Given the description of an element on the screen output the (x, y) to click on. 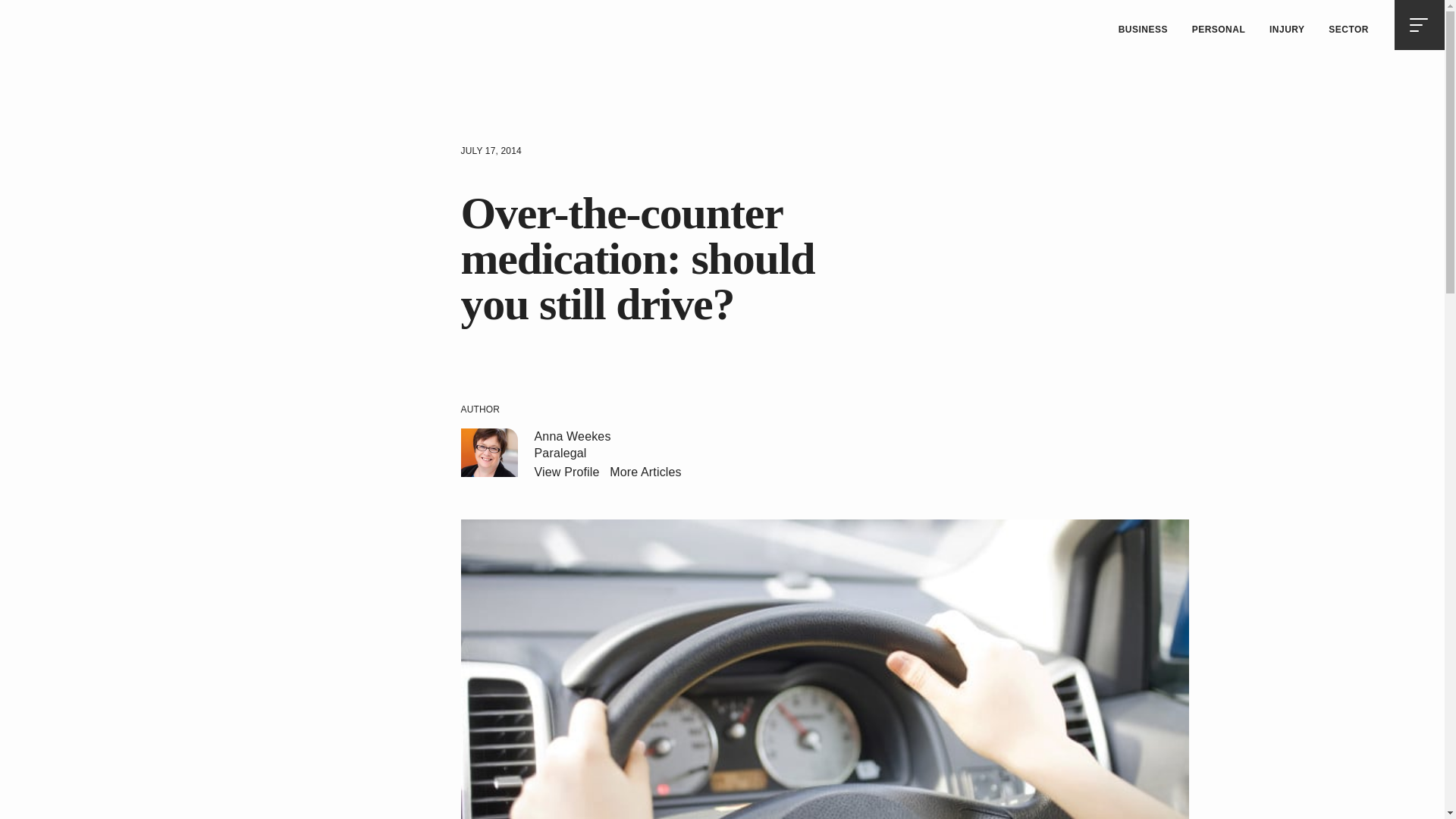
INJURY (1286, 30)
BUSINESS (1142, 30)
SECTOR (1347, 30)
Royds Withy King (59, 25)
PERSONAL (1218, 30)
